Given the description of an element on the screen output the (x, y) to click on. 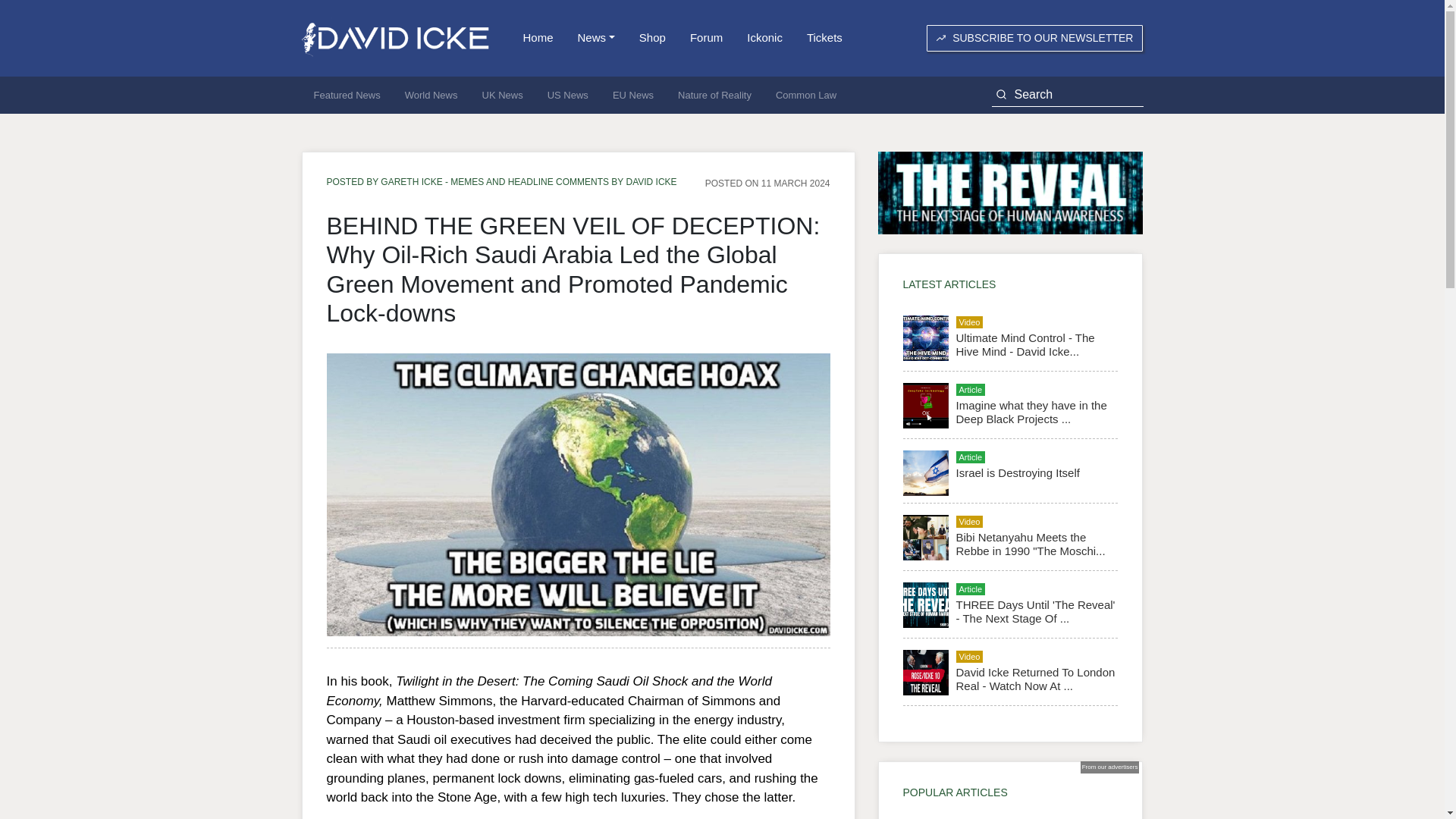
Featured News (347, 94)
Imagine what they have in the Deep Black Projects ? (1030, 411)
Ultimate Mind Control - The Hive Mind - David Icke... (1024, 344)
Israel is Destroying Itself (1016, 472)
World News (431, 94)
Bibi Netanyahu Meets the Rebbe in 1990  (1030, 543)
Home (538, 37)
Tickets (824, 37)
US News (567, 94)
Forum (706, 37)
